Given the description of an element on the screen output the (x, y) to click on. 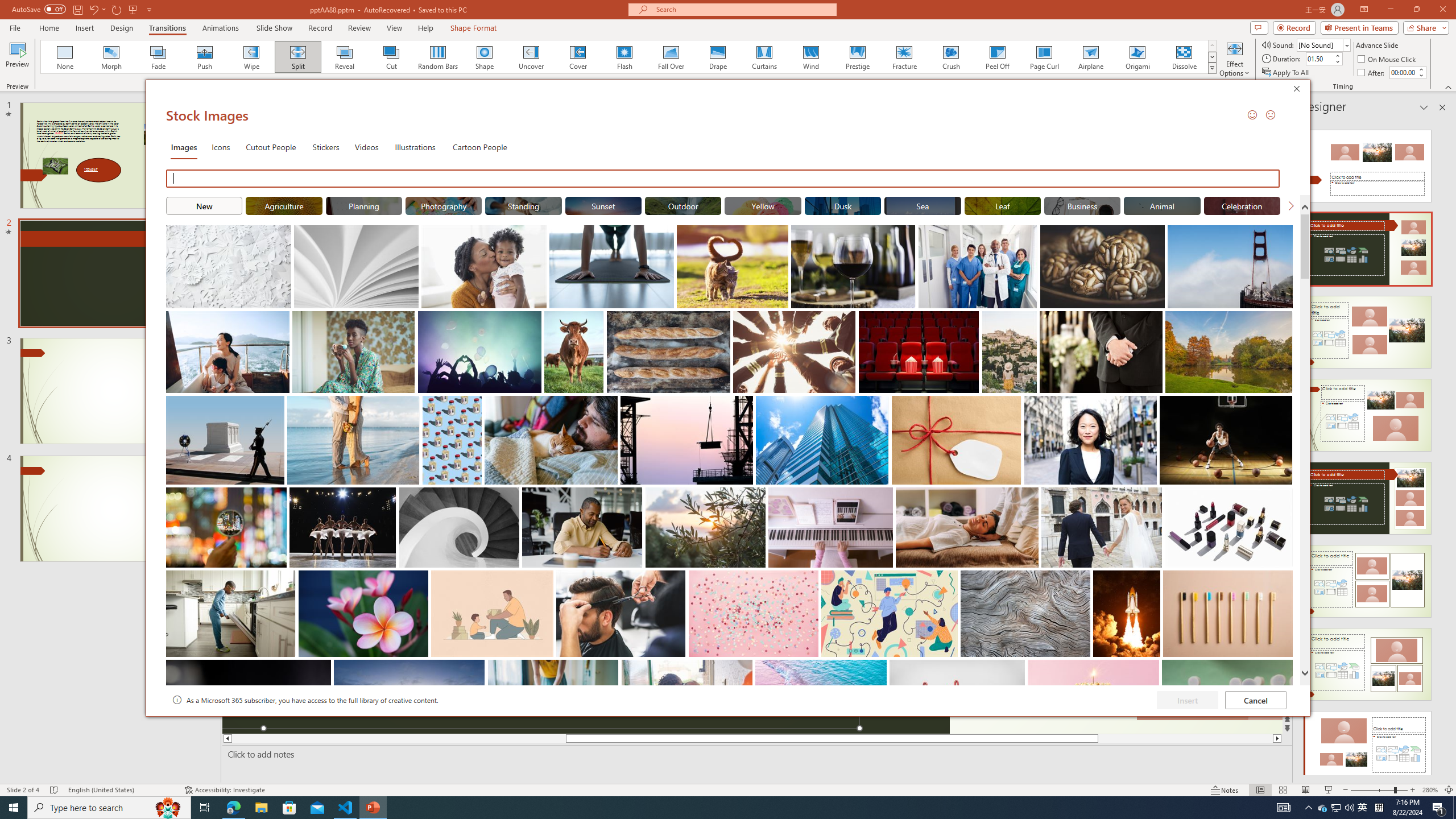
Class: NetUIScrollBar (1441, 447)
"Standing" Stock Images. (523, 205)
Running applications (700, 807)
Prestige (857, 56)
Uncover (531, 56)
Wipe (251, 56)
